Given the description of an element on the screen output the (x, y) to click on. 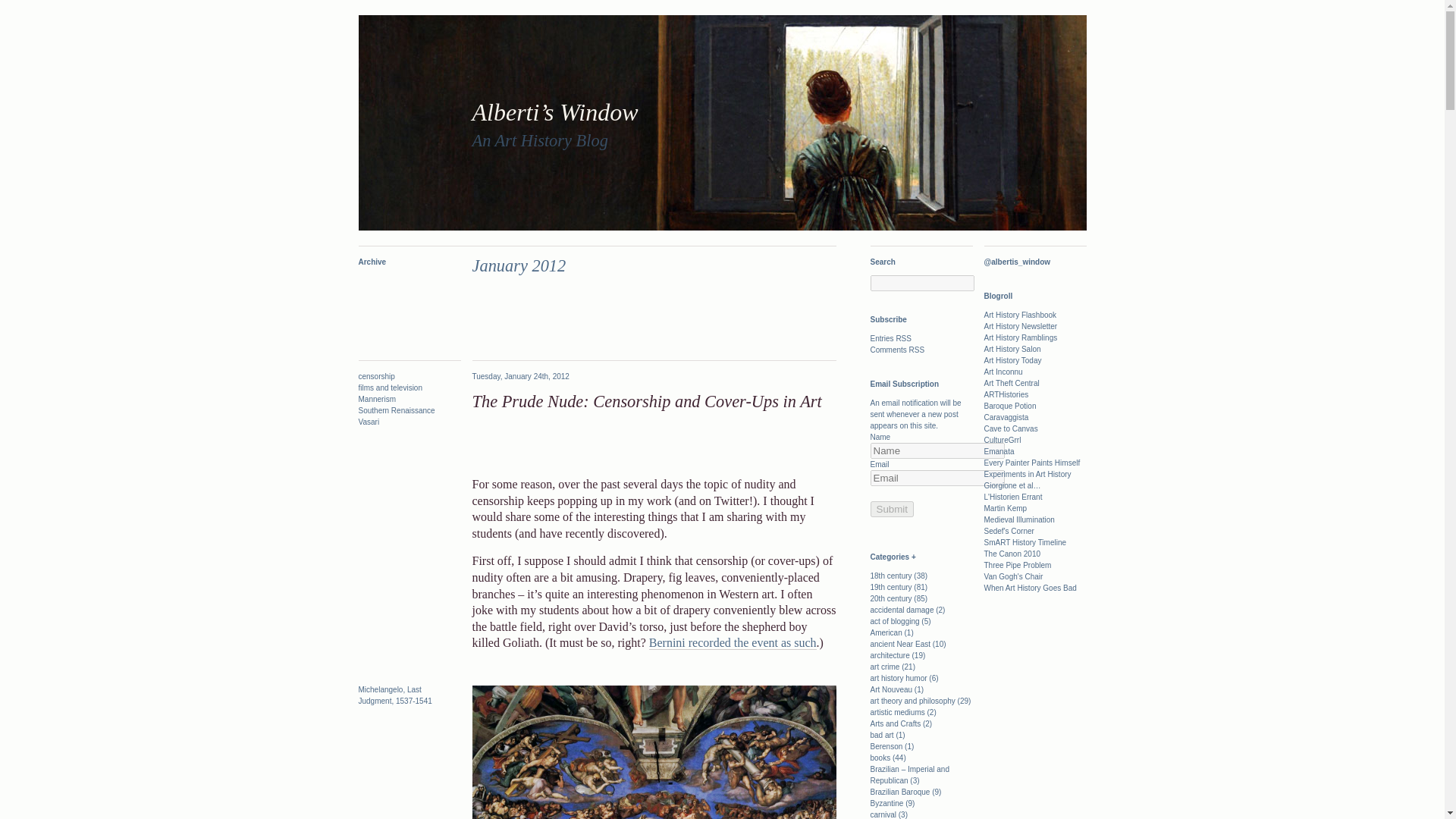
Vasari (368, 421)
Mannerism (376, 398)
Southern Renaissance (395, 410)
An Art History Blog (539, 140)
Search (21, 7)
censorship (376, 376)
films and television (390, 388)
